Given the description of an element on the screen output the (x, y) to click on. 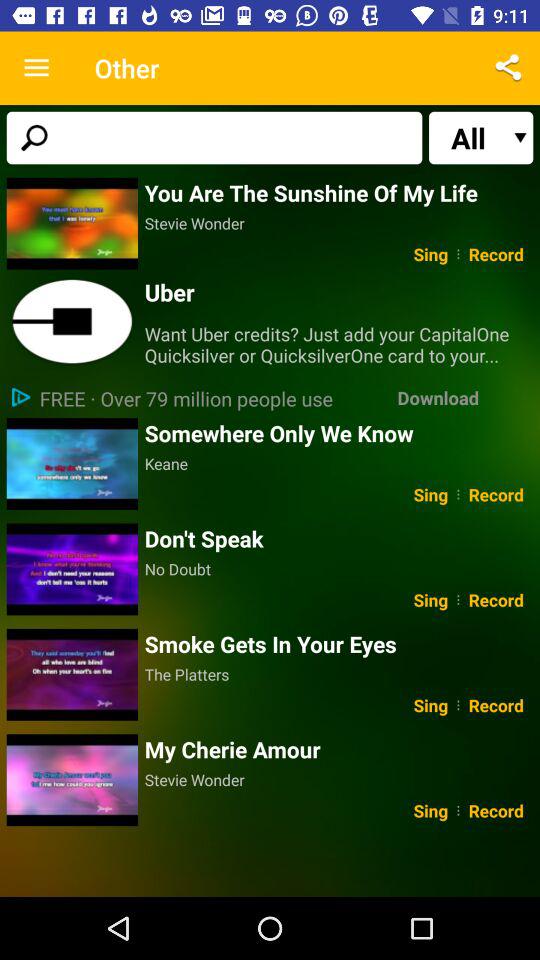
search (214, 137)
